Given the description of an element on the screen output the (x, y) to click on. 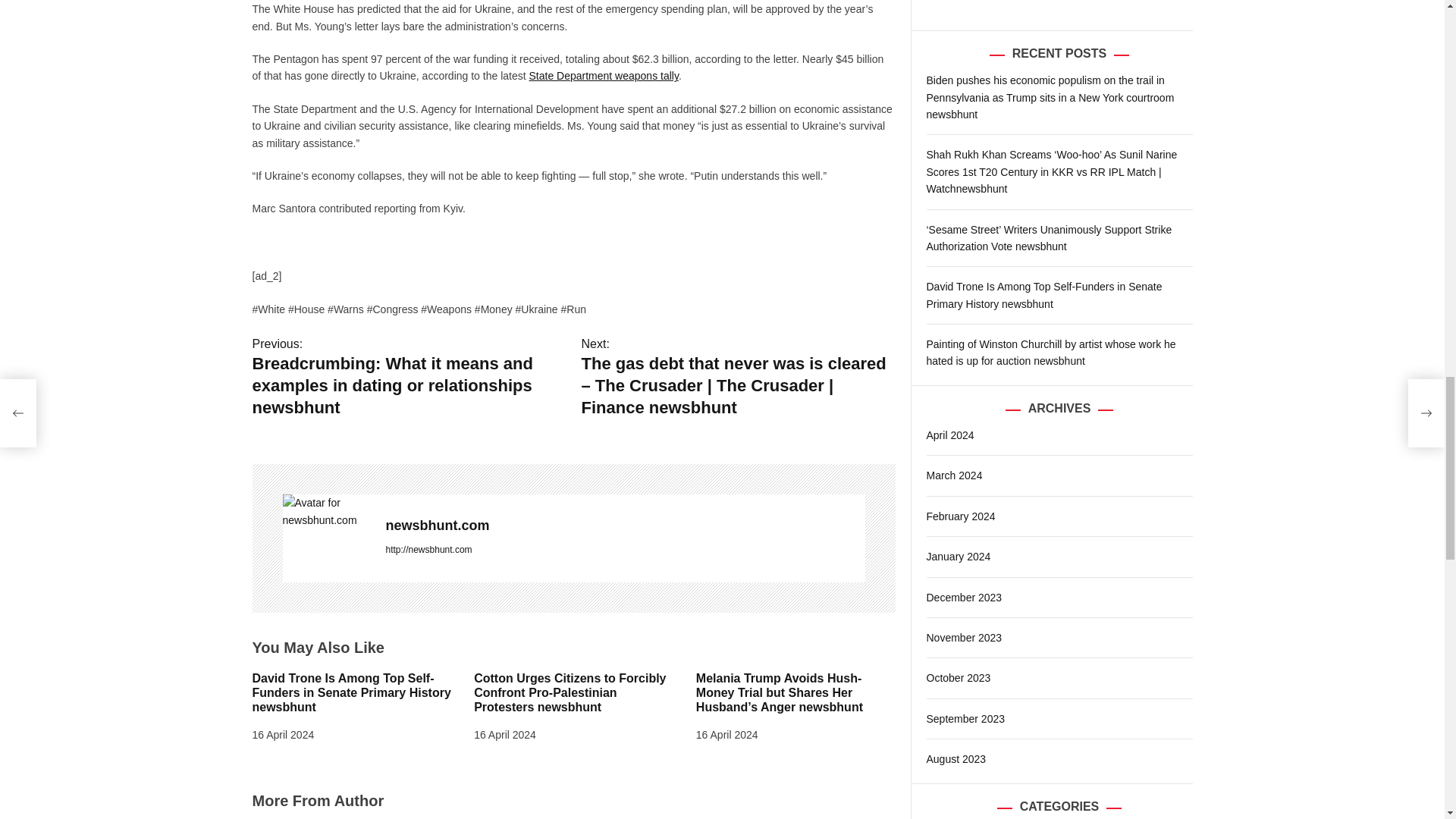
newsbhunt.com (325, 511)
newsbhunt.com (624, 526)
